Given the description of an element on the screen output the (x, y) to click on. 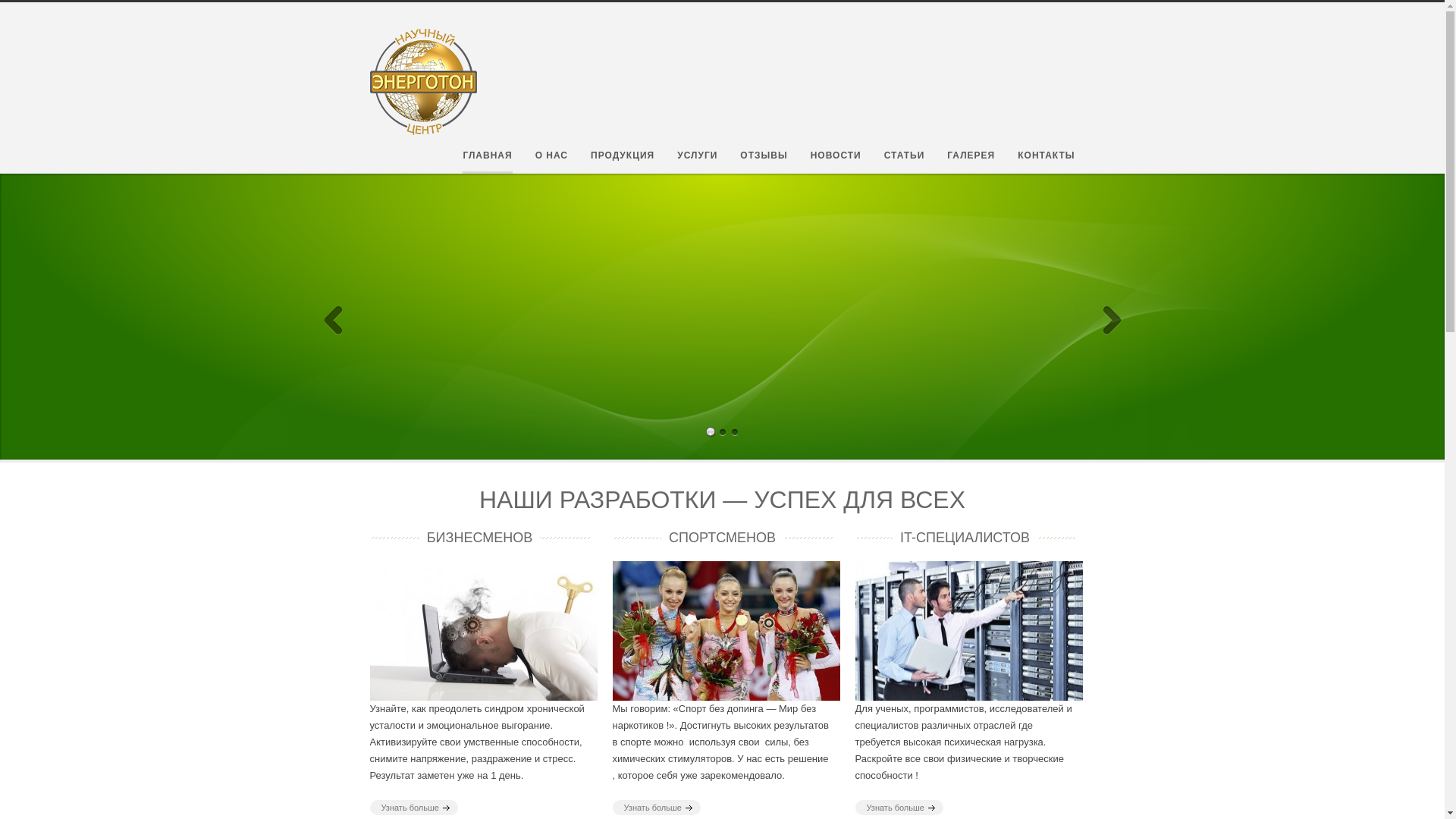
Next Element type: text (1111, 302)
2 Element type: text (722, 398)
3 Element type: text (734, 398)
Prev Element type: text (333, 302)
1 Element type: text (710, 398)
